Given the description of an element on the screen output the (x, y) to click on. 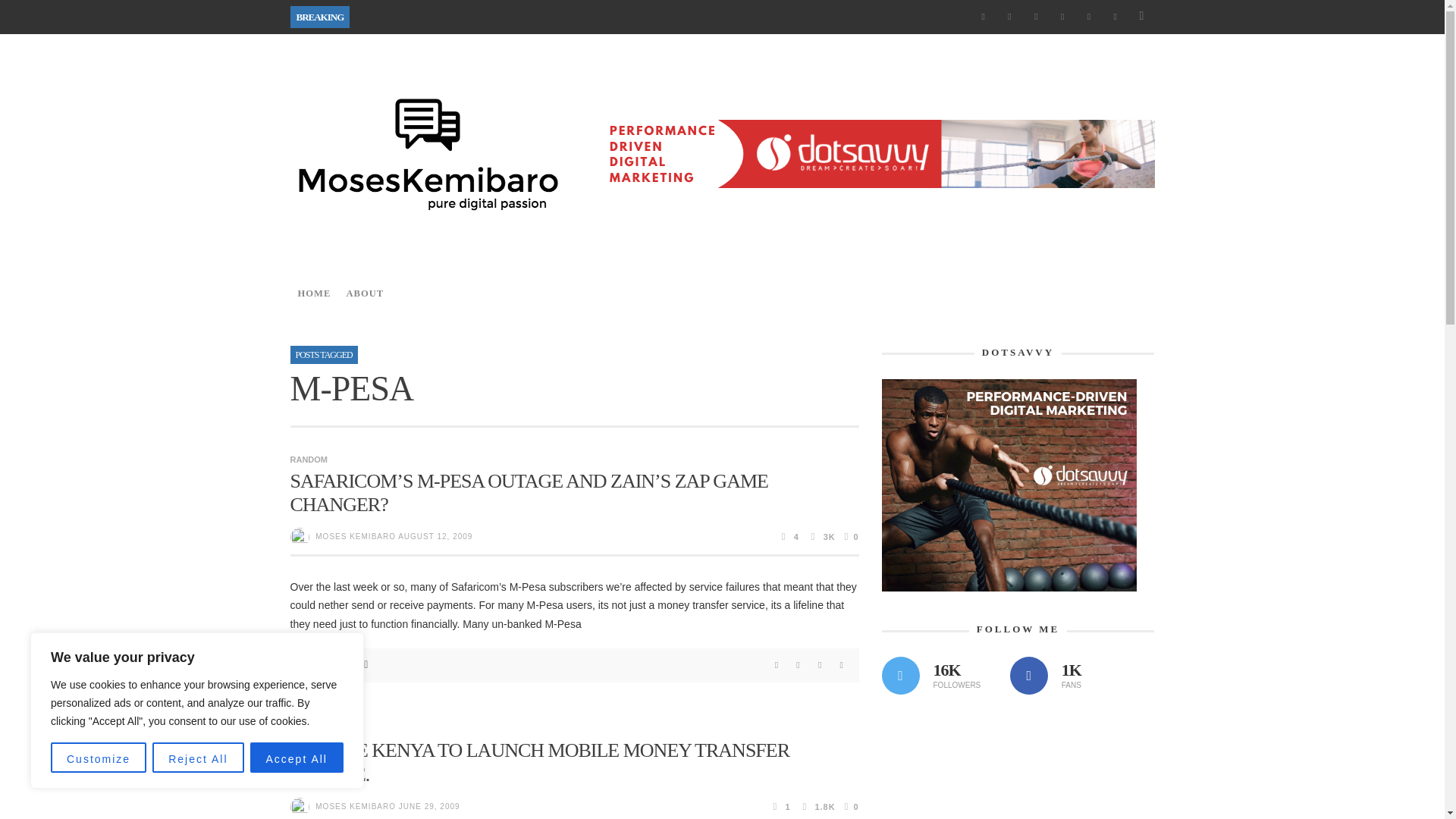
View all posts by Moses Kemibaro (355, 536)
Reject All (197, 757)
View all posts in random (308, 728)
Comments (789, 536)
Share to Pinterest (819, 665)
Accept All (296, 757)
Customize (98, 757)
Comments (780, 806)
Likes (849, 536)
Youtube (1114, 16)
